Given the description of an element on the screen output the (x, y) to click on. 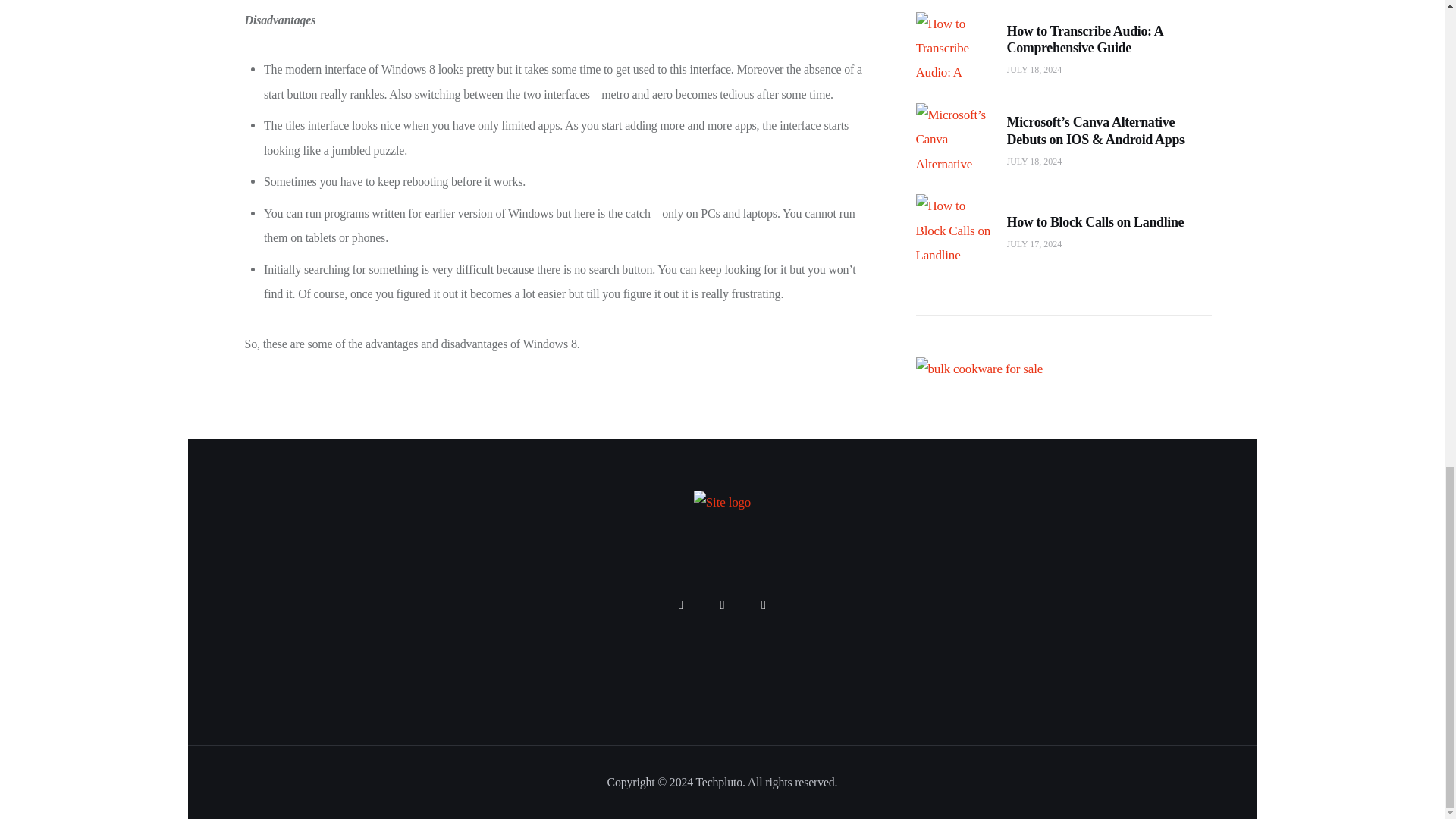
Get the latest kitchen gadgets (979, 316)
